Given the description of an element on the screen output the (x, y) to click on. 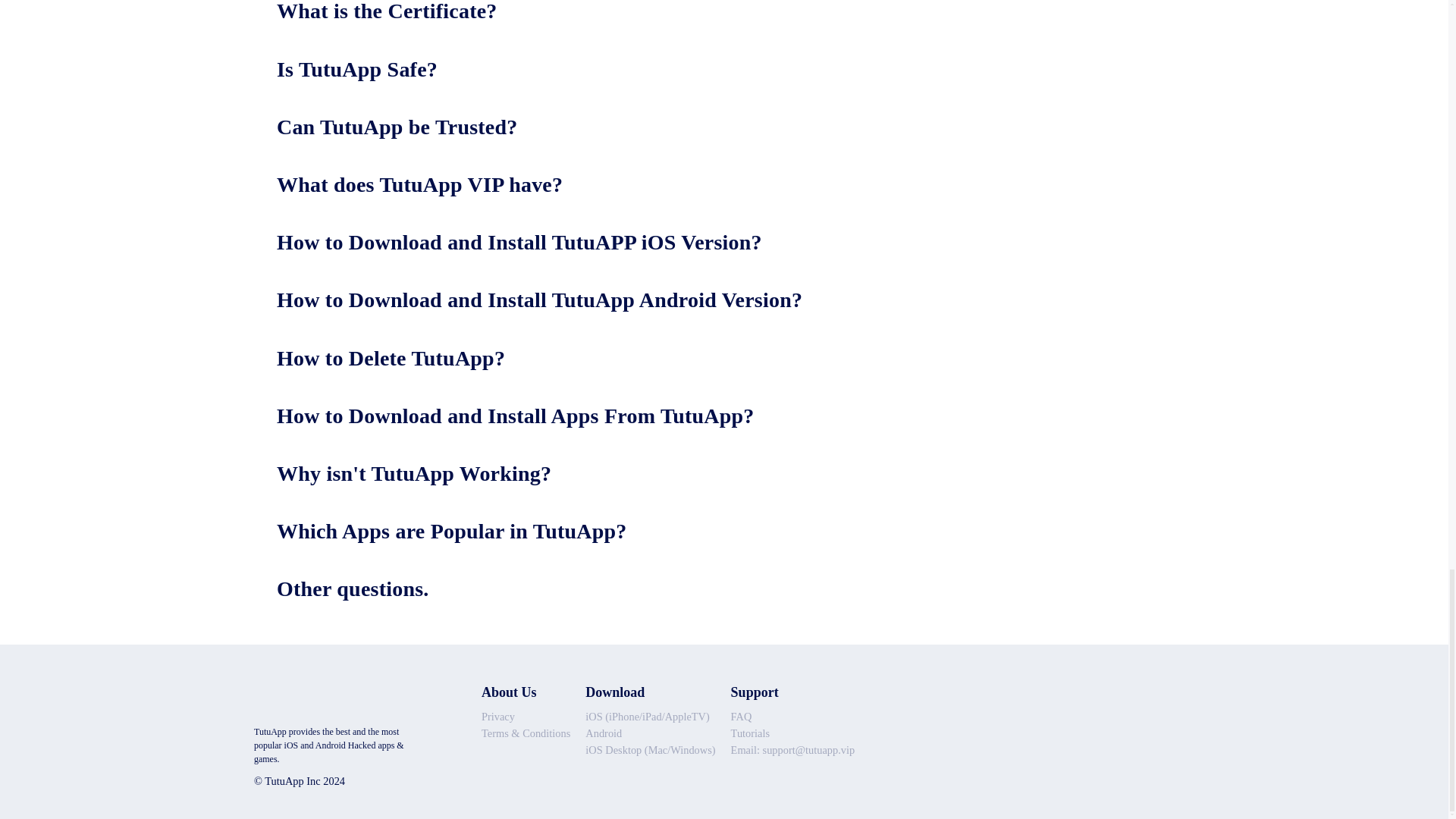
Android (649, 733)
Privacy (525, 717)
Tutorials (793, 733)
FAQ (793, 717)
